Given the description of an element on the screen output the (x, y) to click on. 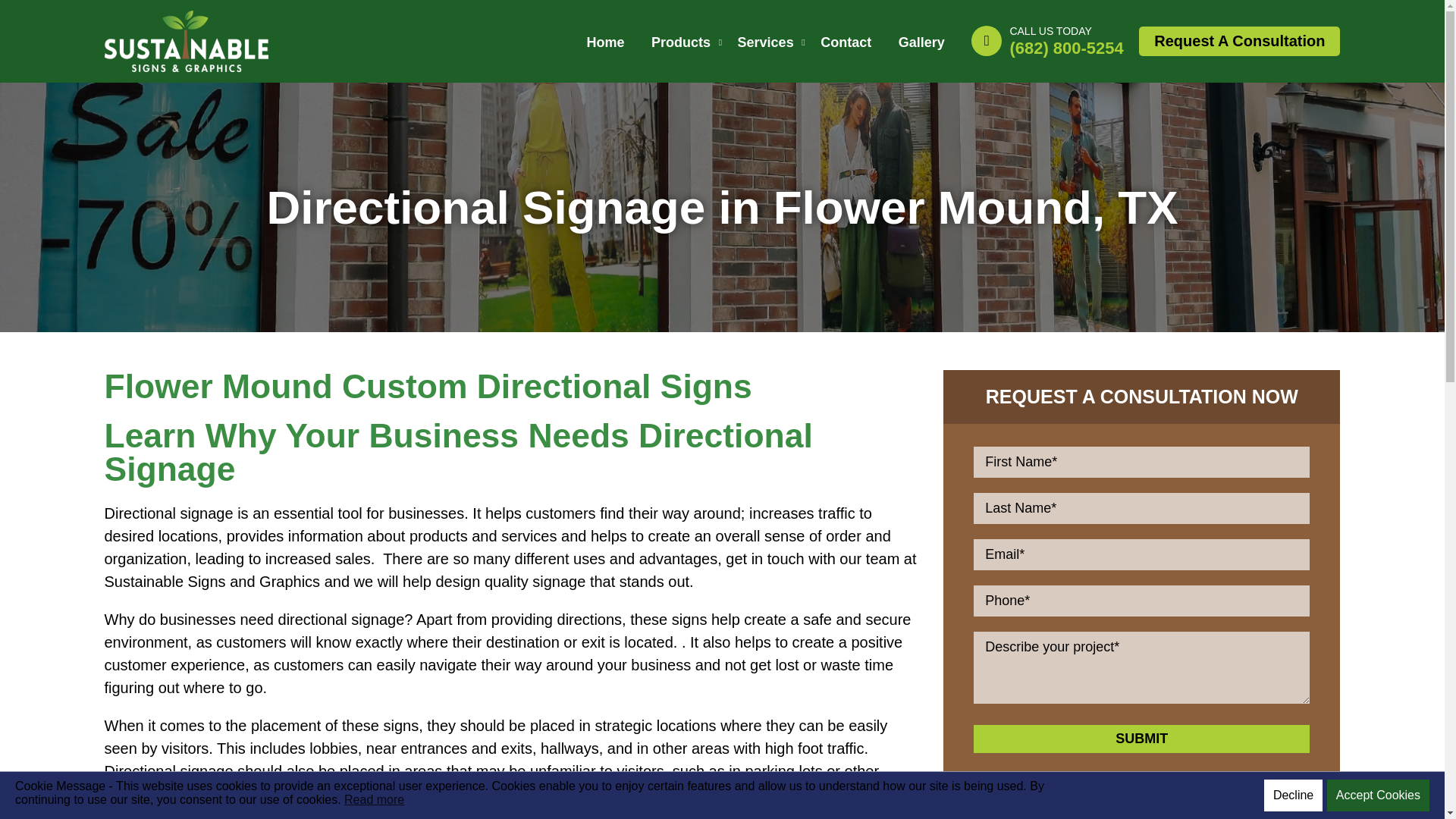
Home (604, 42)
Accept Cookies (1377, 795)
Read more (373, 799)
Submit (1141, 738)
Sustainable Signs And Graphics (185, 21)
Decline (1292, 795)
Products (681, 42)
